Given the description of an element on the screen output the (x, y) to click on. 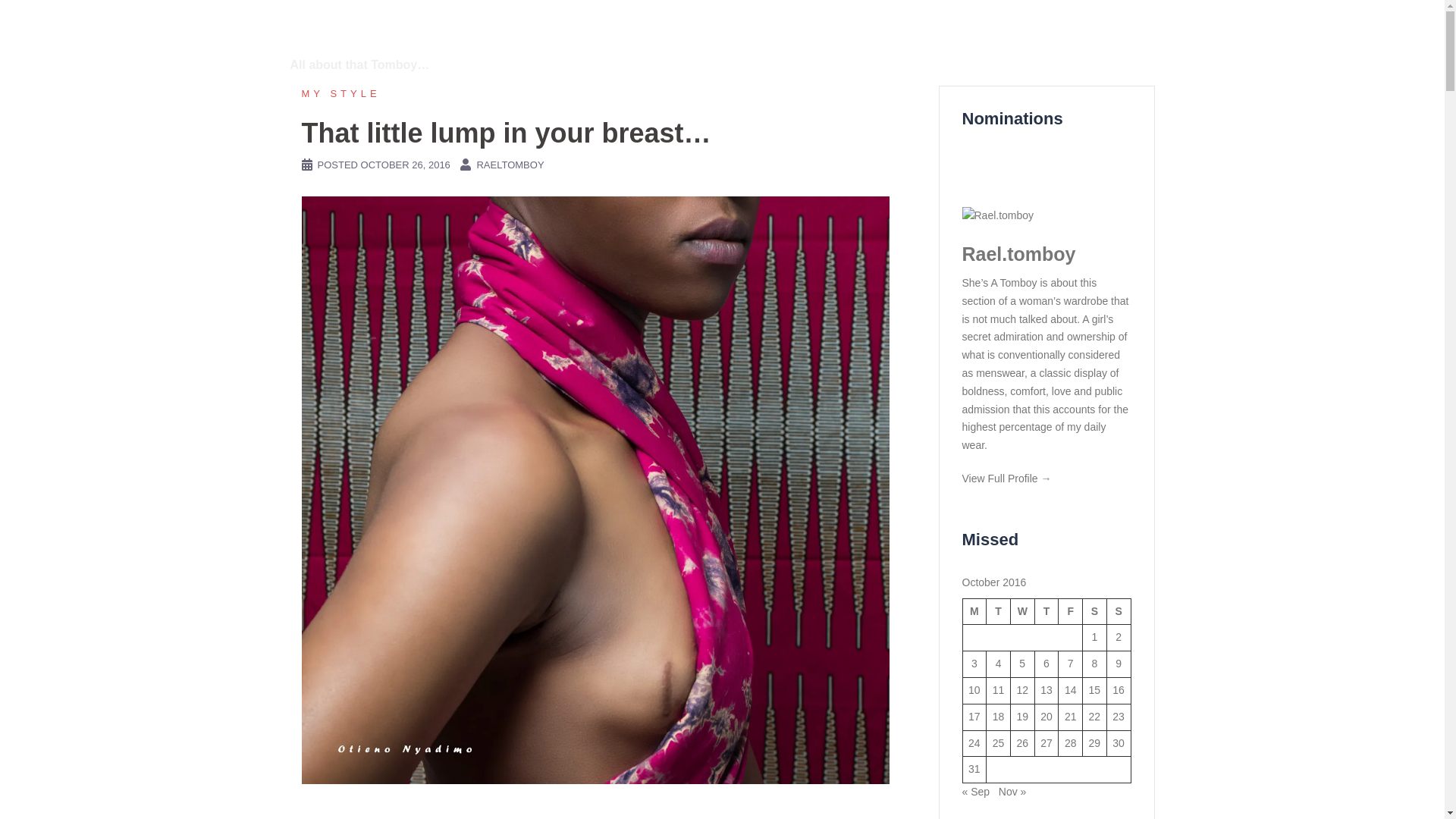
Thursday (1045, 611)
OCTOBER 26, 2016 (405, 164)
Home (1128, 45)
About Me (914, 45)
My style (340, 93)
Contact Us (985, 45)
She's A Tomboy (382, 29)
Monday (974, 611)
Tuesday (998, 611)
MY STYLE (340, 93)
Wednesday (1021, 611)
RAELTOMBOY (509, 164)
Sunday (1118, 611)
Tomboy Blog (1063, 45)
Saturday (1094, 611)
